Given the description of an element on the screen output the (x, y) to click on. 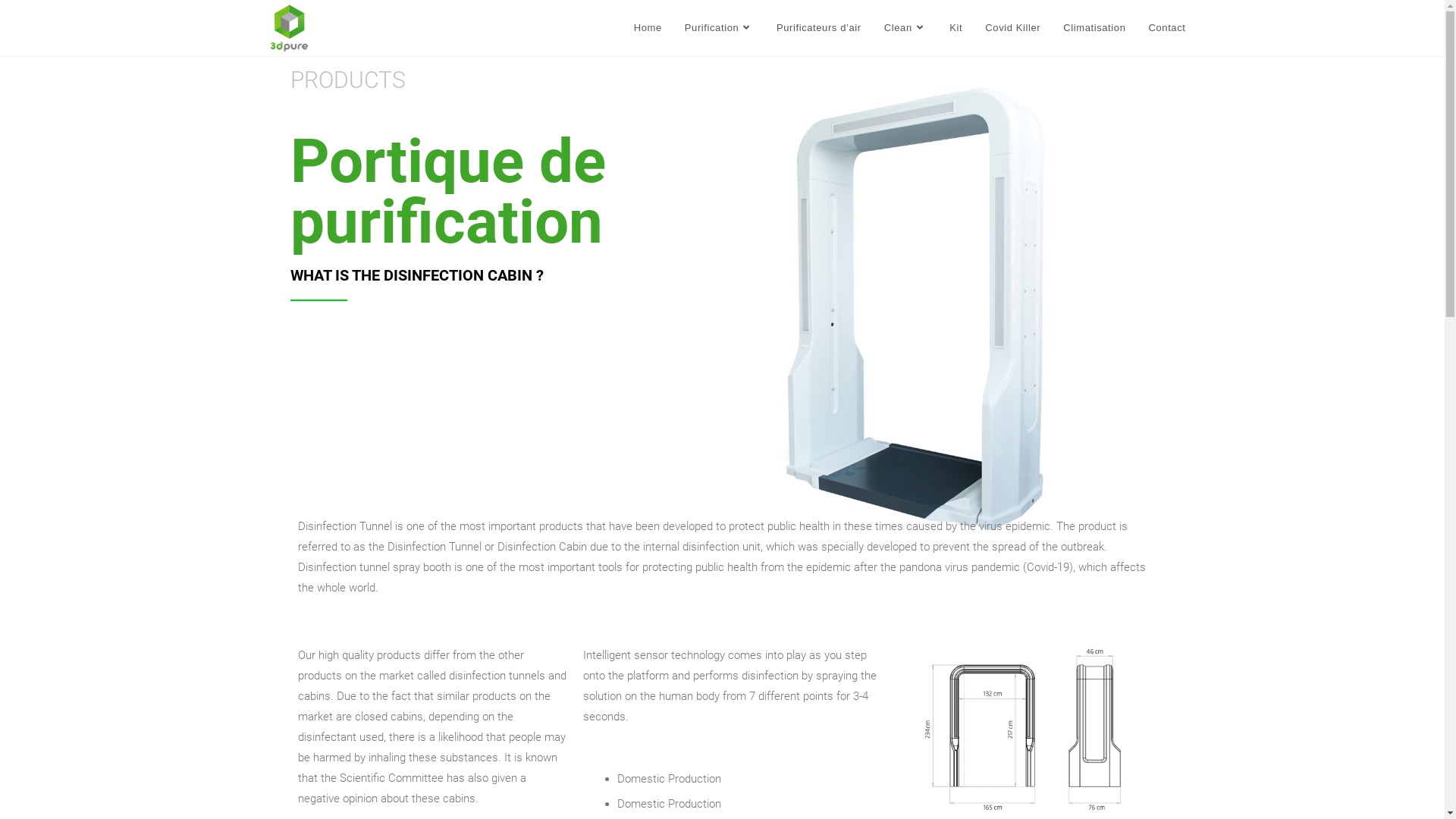
Kit Element type: text (955, 28)
Clean Element type: text (905, 28)
Contact Element type: text (1166, 28)
Climatisation Element type: text (1093, 28)
Purification Element type: text (719, 28)
Home Element type: text (647, 28)
Covid Killer Element type: text (1012, 28)
